Given the description of an element on the screen output the (x, y) to click on. 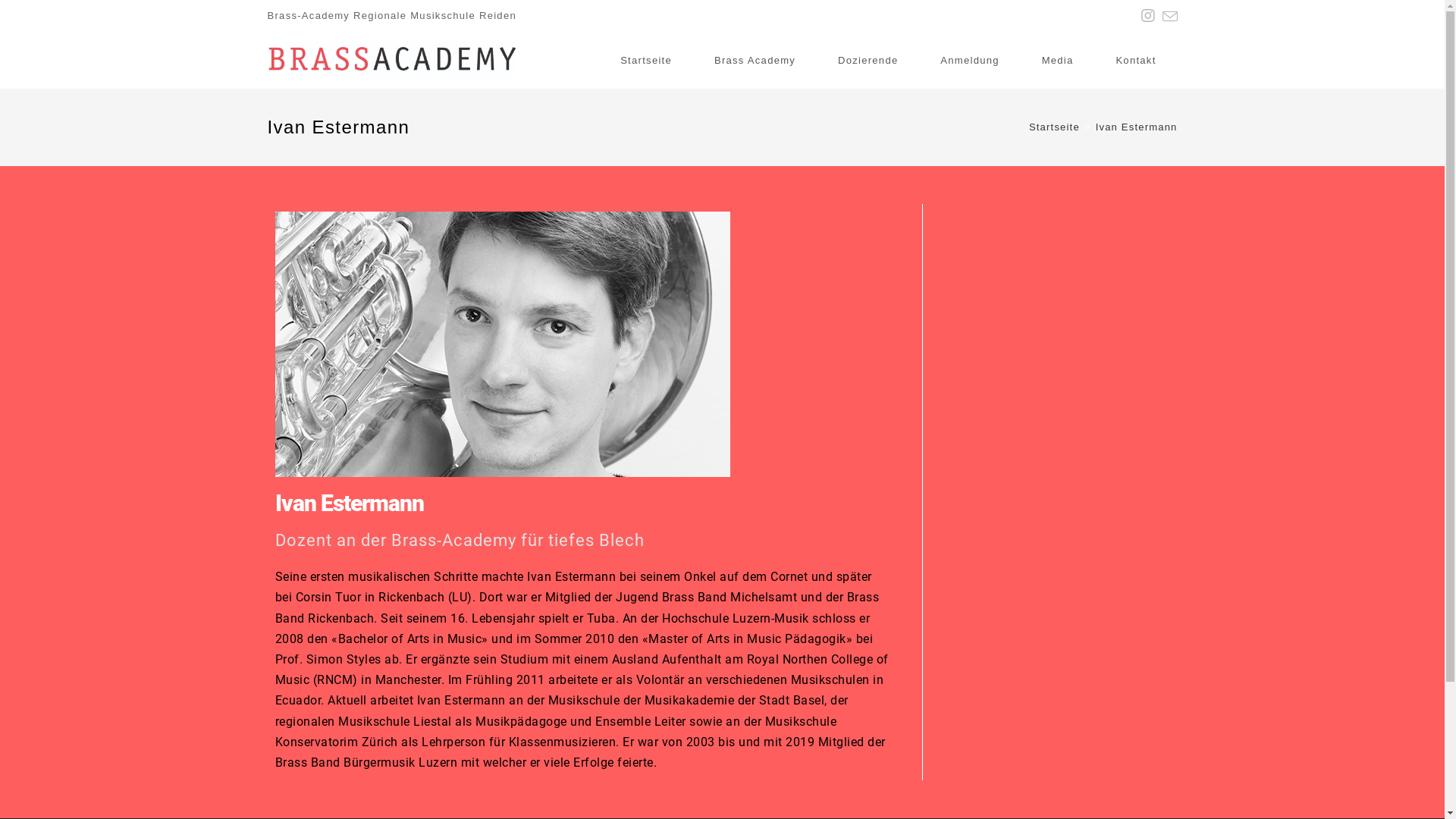
Startseite Element type: text (1054, 126)
Dozierende Element type: text (867, 59)
Brass Academy Element type: text (754, 59)
Media Element type: text (1057, 59)
Kontakt Element type: text (1135, 59)
Startseite Element type: text (646, 59)
Anmeldung Element type: text (969, 59)
Ivan Estermann Element type: text (1136, 126)
